Given the description of an element on the screen output the (x, y) to click on. 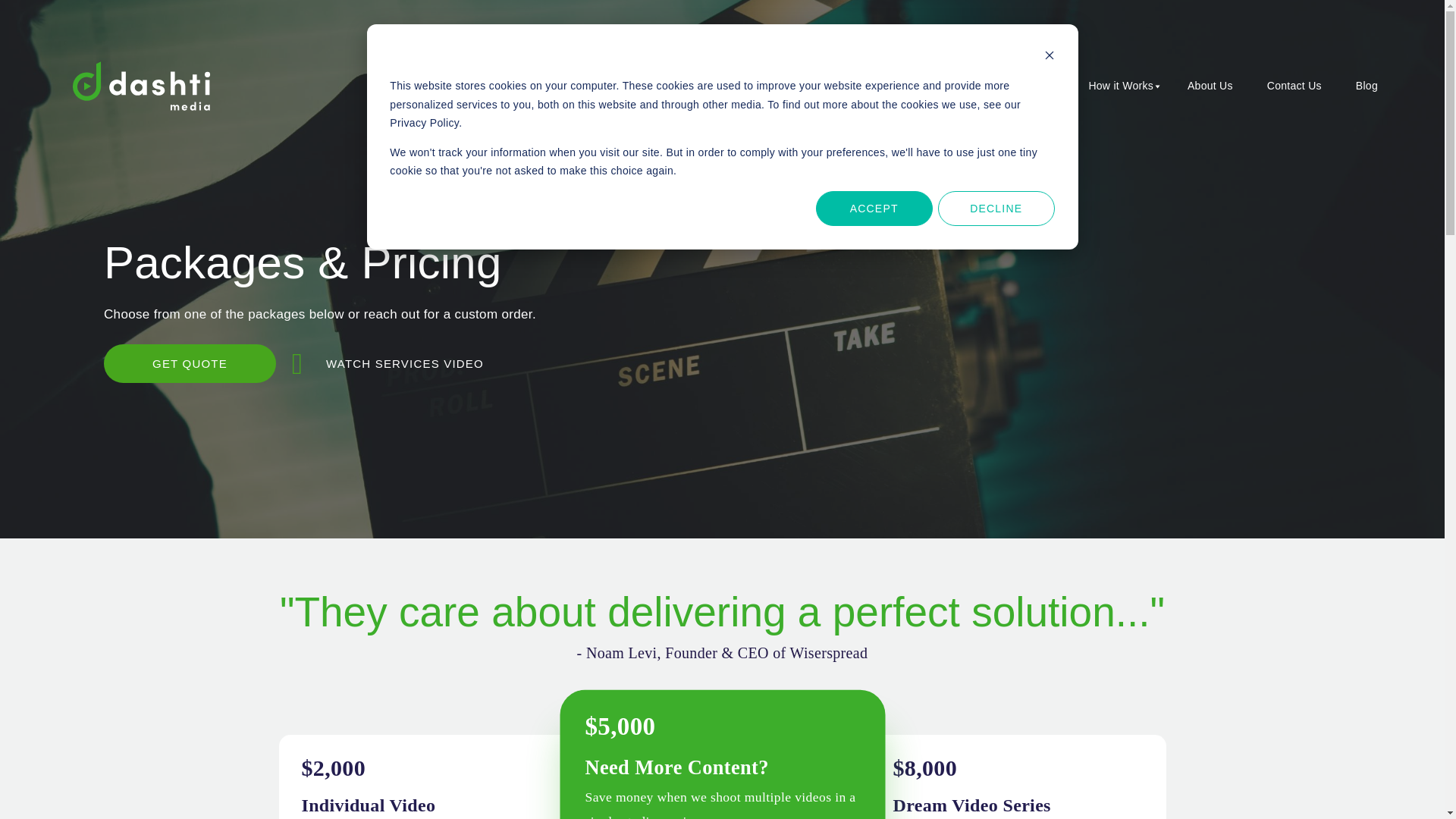
Dashti Media (141, 85)
Portfolio (1037, 85)
How it Works (1123, 85)
GET QUOTE (189, 363)
Contact Us (1296, 85)
WATCH SERVICES VIDEO (391, 363)
About Us (1214, 85)
Blog (1369, 85)
